Given the description of an element on the screen output the (x, y) to click on. 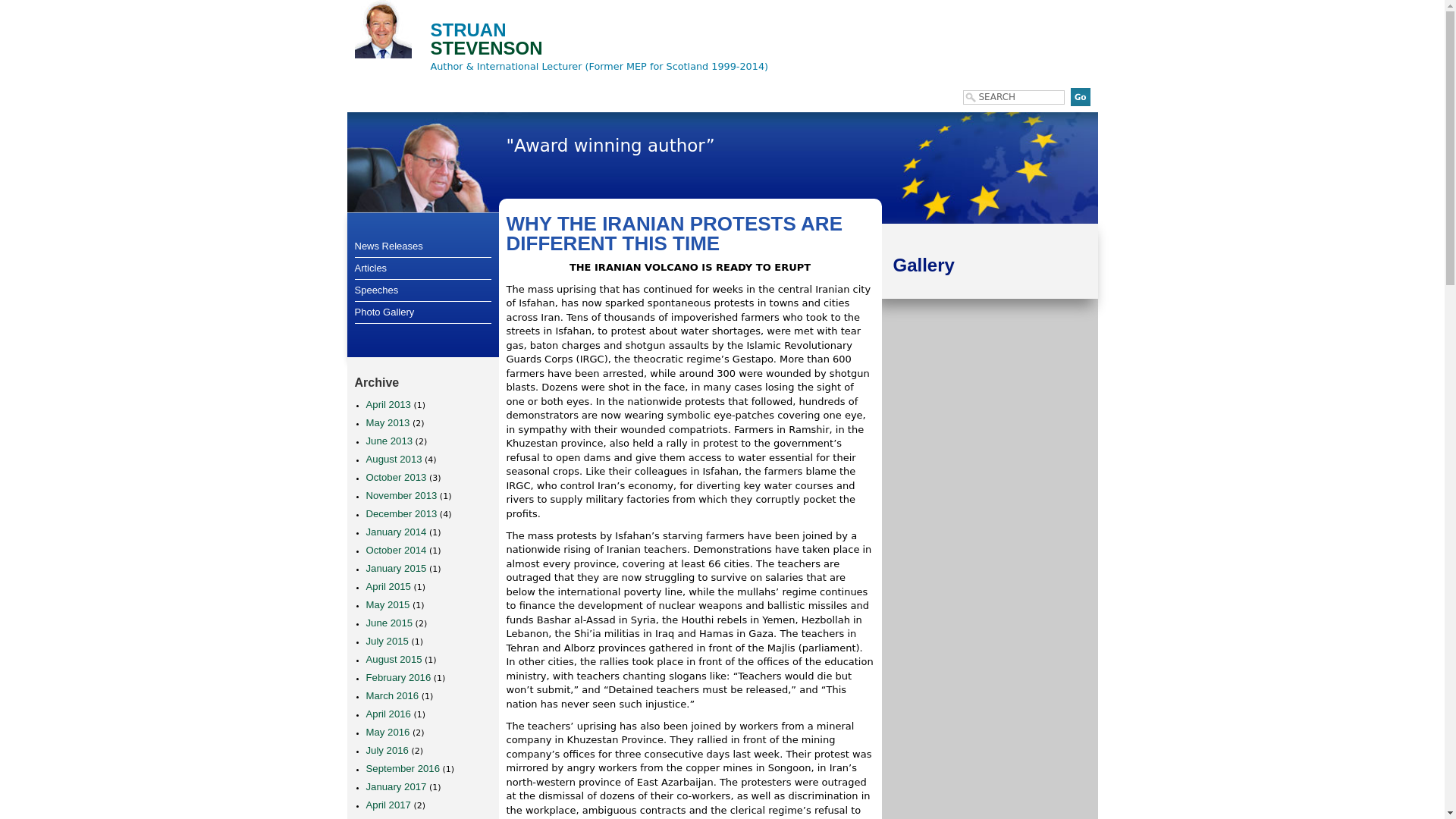
April 2013 (387, 404)
News Releases (423, 246)
November 2013 (400, 495)
April 2015 (387, 586)
Articles (423, 268)
April 2016 (387, 713)
Photo Gallery (423, 312)
October 2014 (395, 550)
December 2013 (400, 513)
INTERESTS (593, 94)
